Given the description of an element on the screen output the (x, y) to click on. 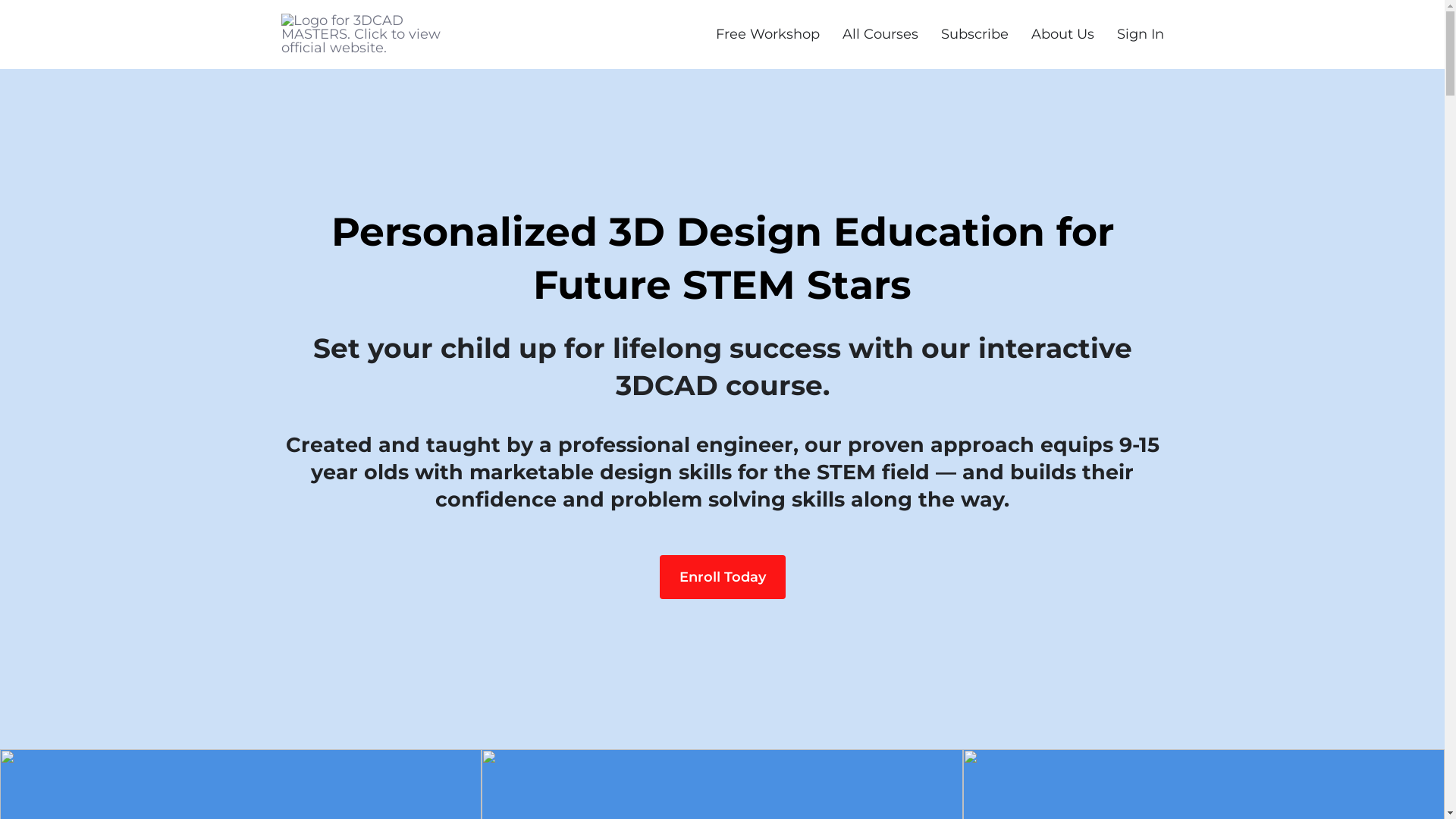
Subscribe Element type: text (973, 33)
Sign In Element type: text (1139, 33)
All Courses Element type: text (879, 33)
3DCAD Masters LLC Element type: text (375, 33)
Free Workshop Element type: text (767, 33)
About Us Element type: text (1062, 33)
Enroll Today Element type: text (722, 577)
